Given the description of an element on the screen output the (x, y) to click on. 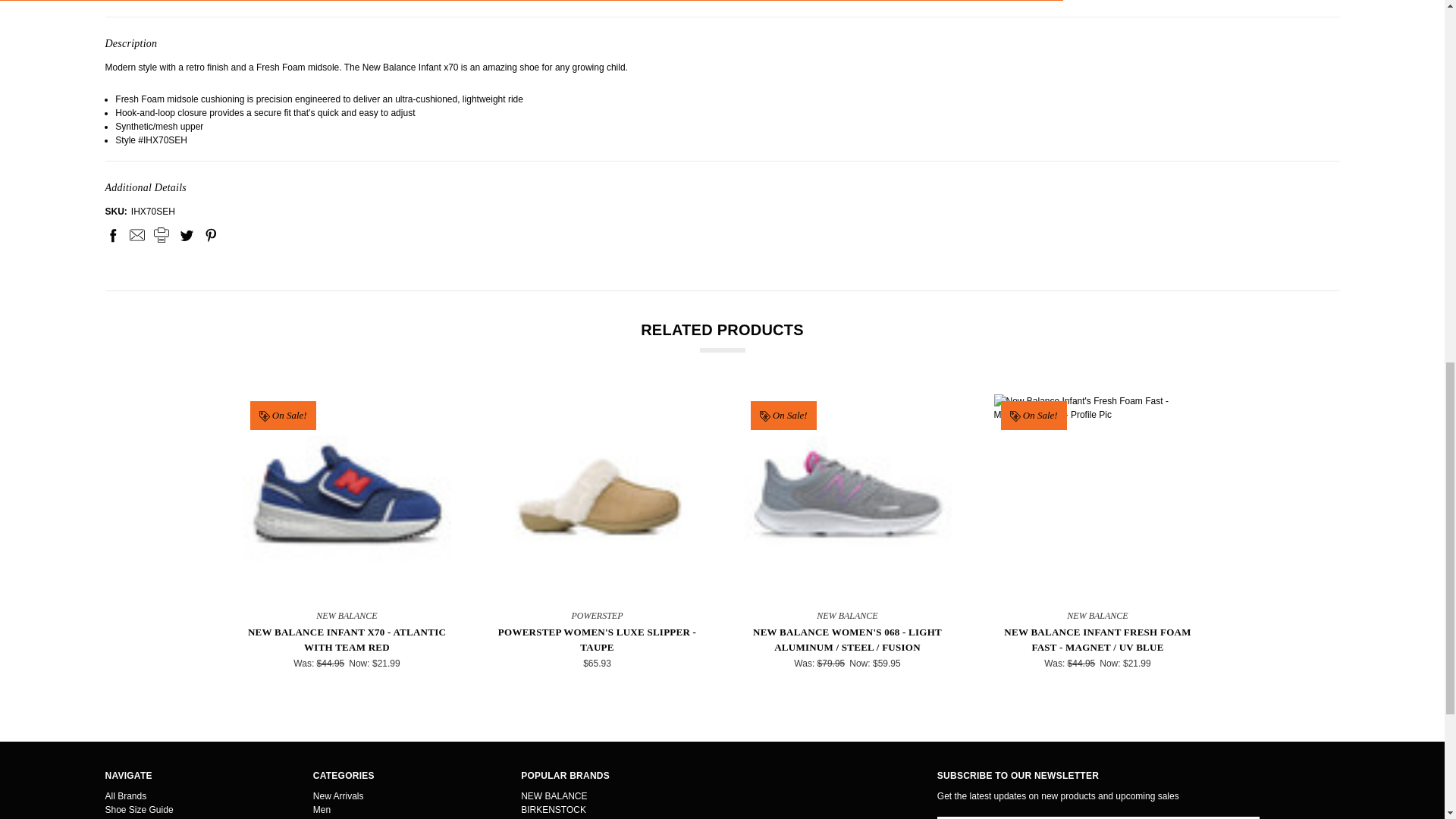
New Balance Infant x70 - Atlantic with Team Red - Profile (346, 497)
Facebook (111, 234)
Email (136, 234)
Print (161, 234)
Facebook Recommended (217, 260)
Pinterest (210, 234)
Subscribe (1299, 817)
Twitter (186, 234)
